Given the description of an element on the screen output the (x, y) to click on. 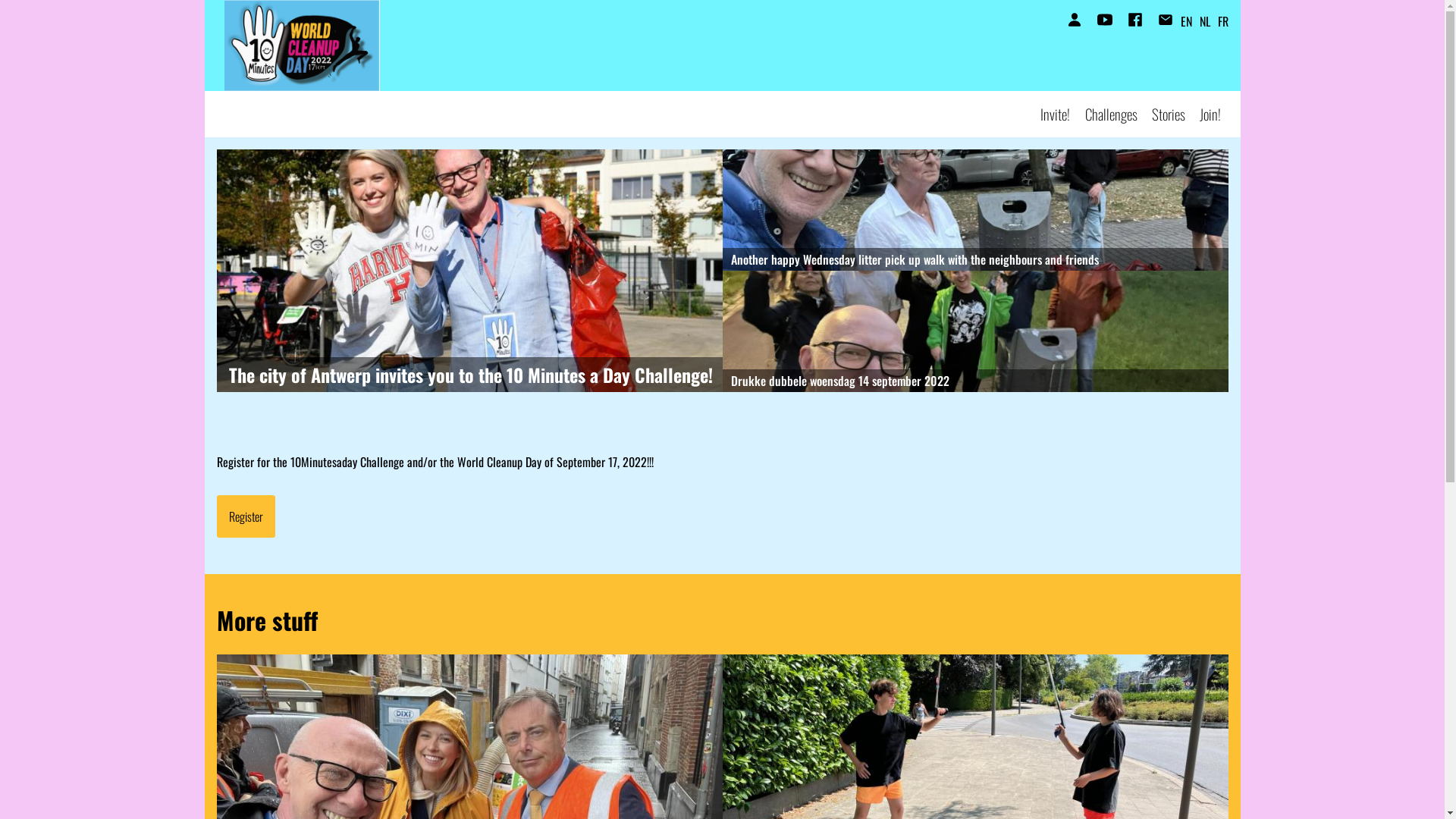
FR Element type: text (1222, 21)
Join! Element type: text (1209, 114)
Challenges Element type: text (1111, 114)
Invite! Element type: text (1055, 114)
Register Element type: text (245, 516)
Stories Element type: text (1168, 114)
Drukke dubbele woensdag 14 september 2022 Element type: text (974, 331)
EN Element type: text (1185, 21)
NL Element type: text (1204, 21)
